Given the description of an element on the screen output the (x, y) to click on. 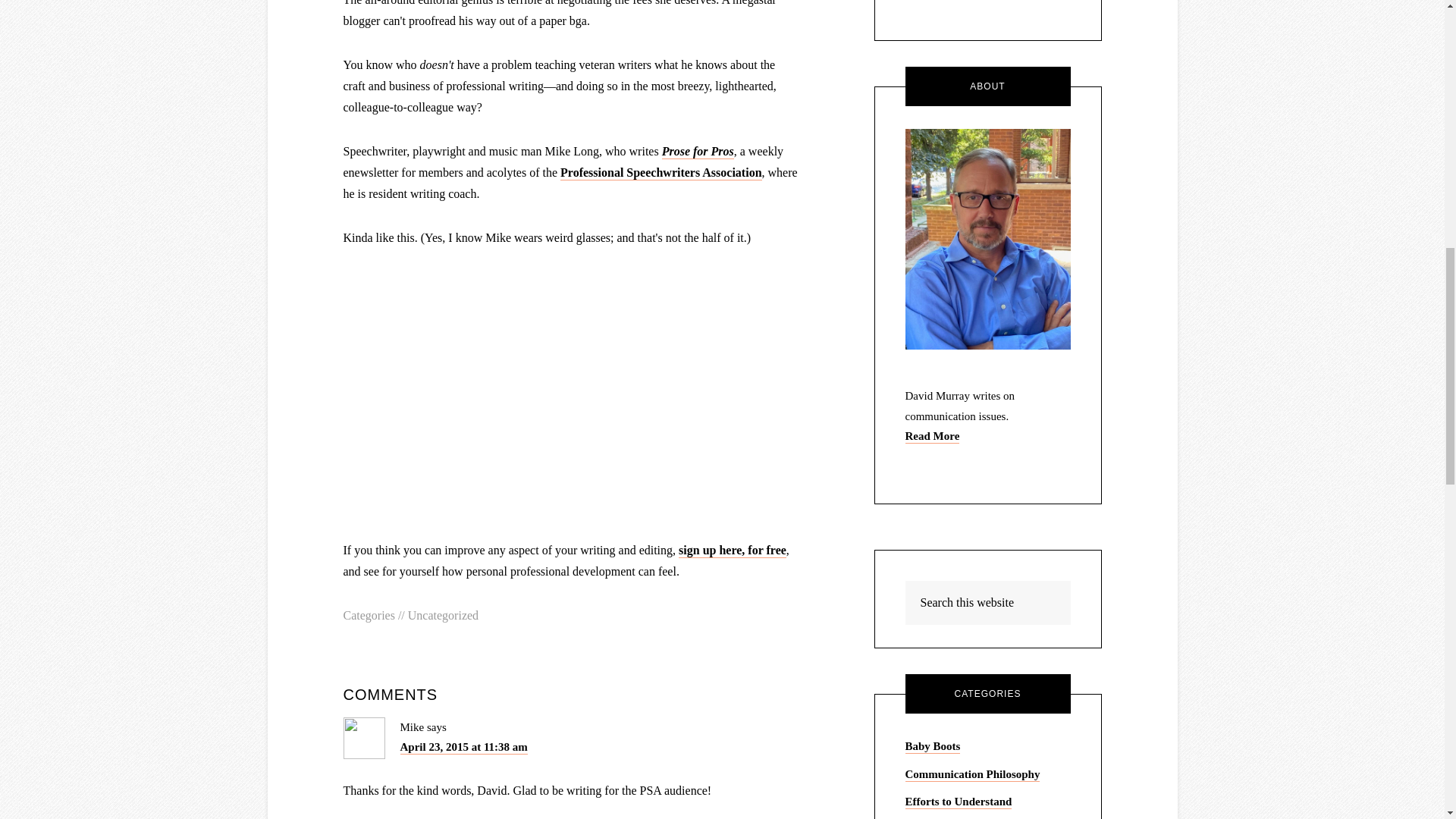
Communication Philosophy (973, 775)
April 23, 2015 at 11:38 am (463, 747)
Baby Boots (932, 746)
Efforts to Understand (958, 802)
Prose for Pros (697, 151)
Professional Speechwriters Association (660, 173)
Read More (932, 436)
sign up here, for free (732, 550)
Uncategorized (443, 615)
